Given the description of an element on the screen output the (x, y) to click on. 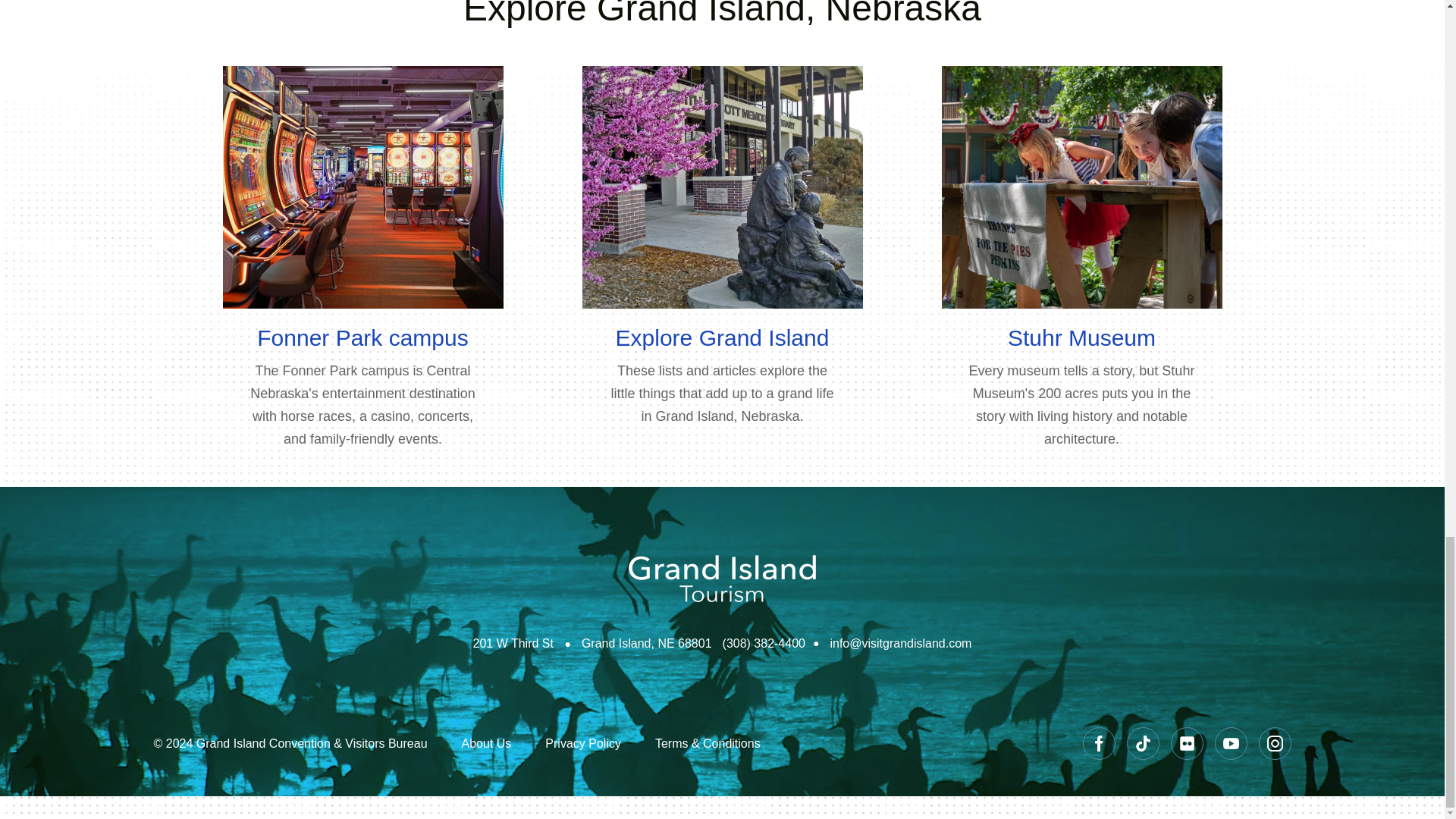
logo (721, 578)
